Given the description of an element on the screen output the (x, y) to click on. 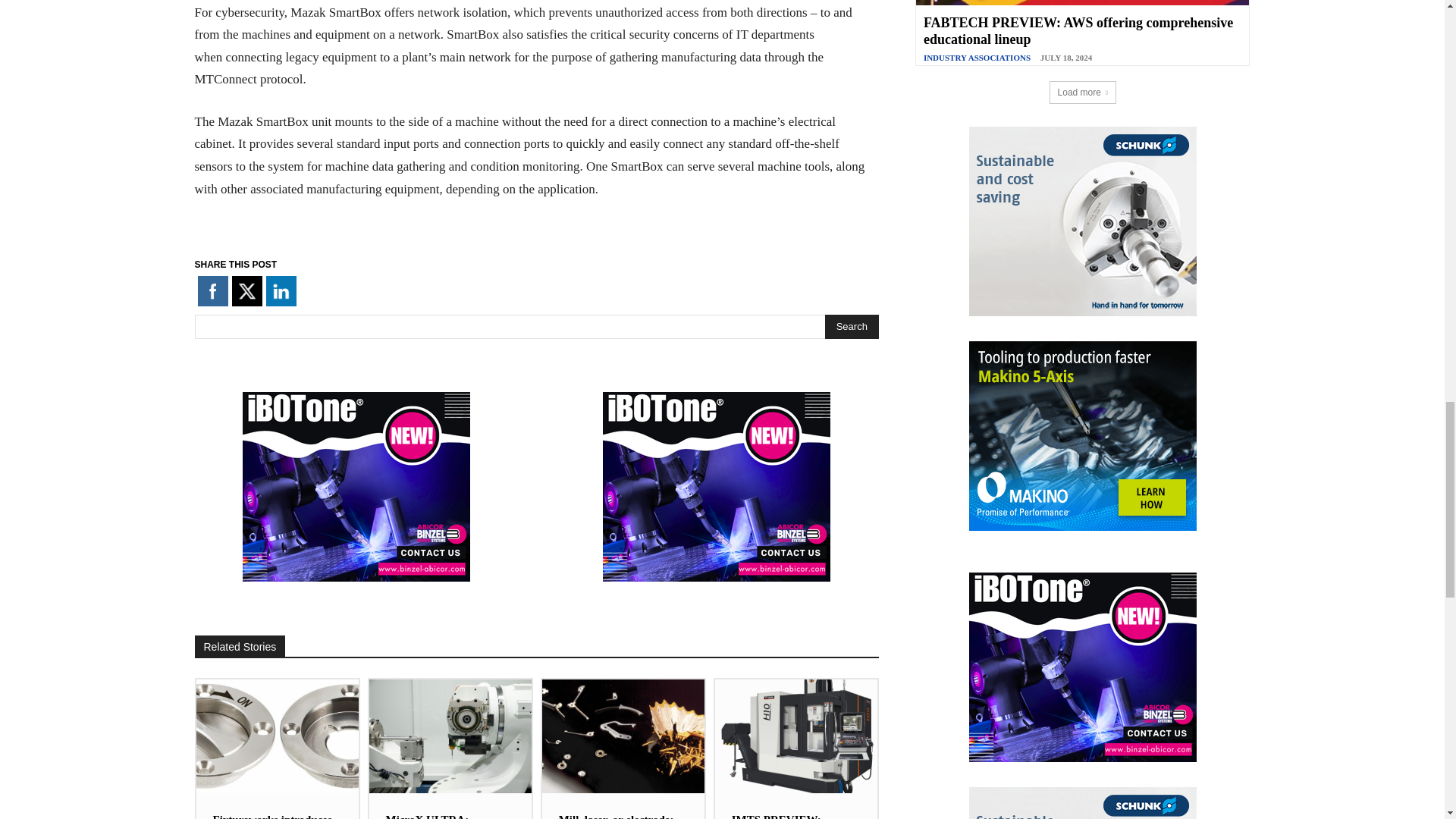
Facebook (211, 291)
